Given the description of an element on the screen output the (x, y) to click on. 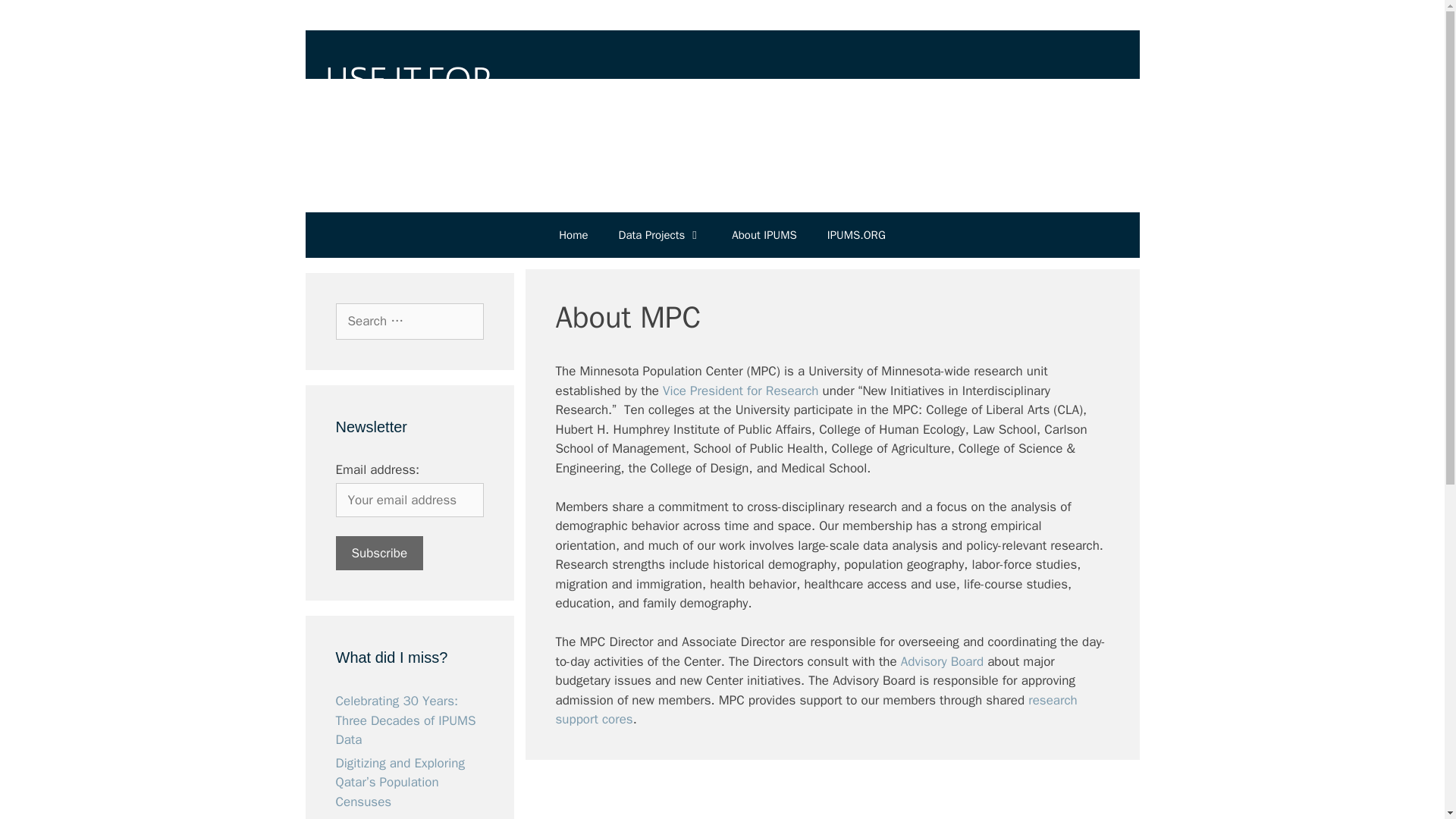
IPUMS.ORG (856, 234)
Data Projects (660, 234)
Advisory Board (942, 661)
Subscribe (378, 553)
Use It for Good (721, 105)
Search for: (408, 321)
Use It for Good (721, 105)
Subscribe (378, 553)
Search (35, 18)
research support cores (815, 709)
Celebrating 30 Years: Three Decades of IPUMS Data (405, 719)
Home (572, 234)
Vice President for Research (740, 390)
About IPUMS (763, 234)
